Given the description of an element on the screen output the (x, y) to click on. 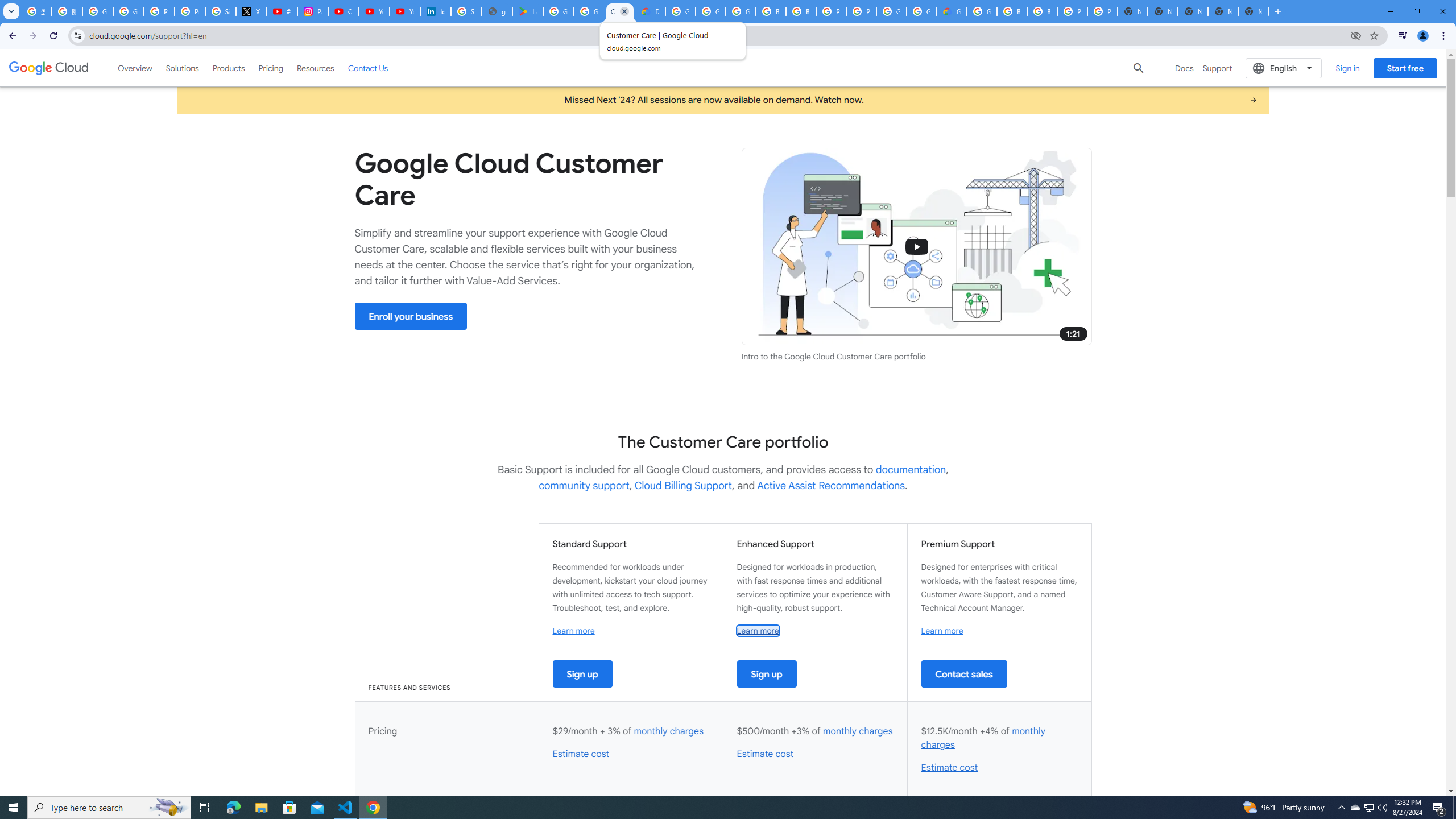
monthly charges (982, 738)
Privacy Help Center - Policies Help (189, 11)
Google Cloud Platform (680, 11)
Browse Chrome as a guest - Computer - Google Chrome Help (770, 11)
Google Cloud Platform (981, 11)
